Given the description of an element on the screen output the (x, y) to click on. 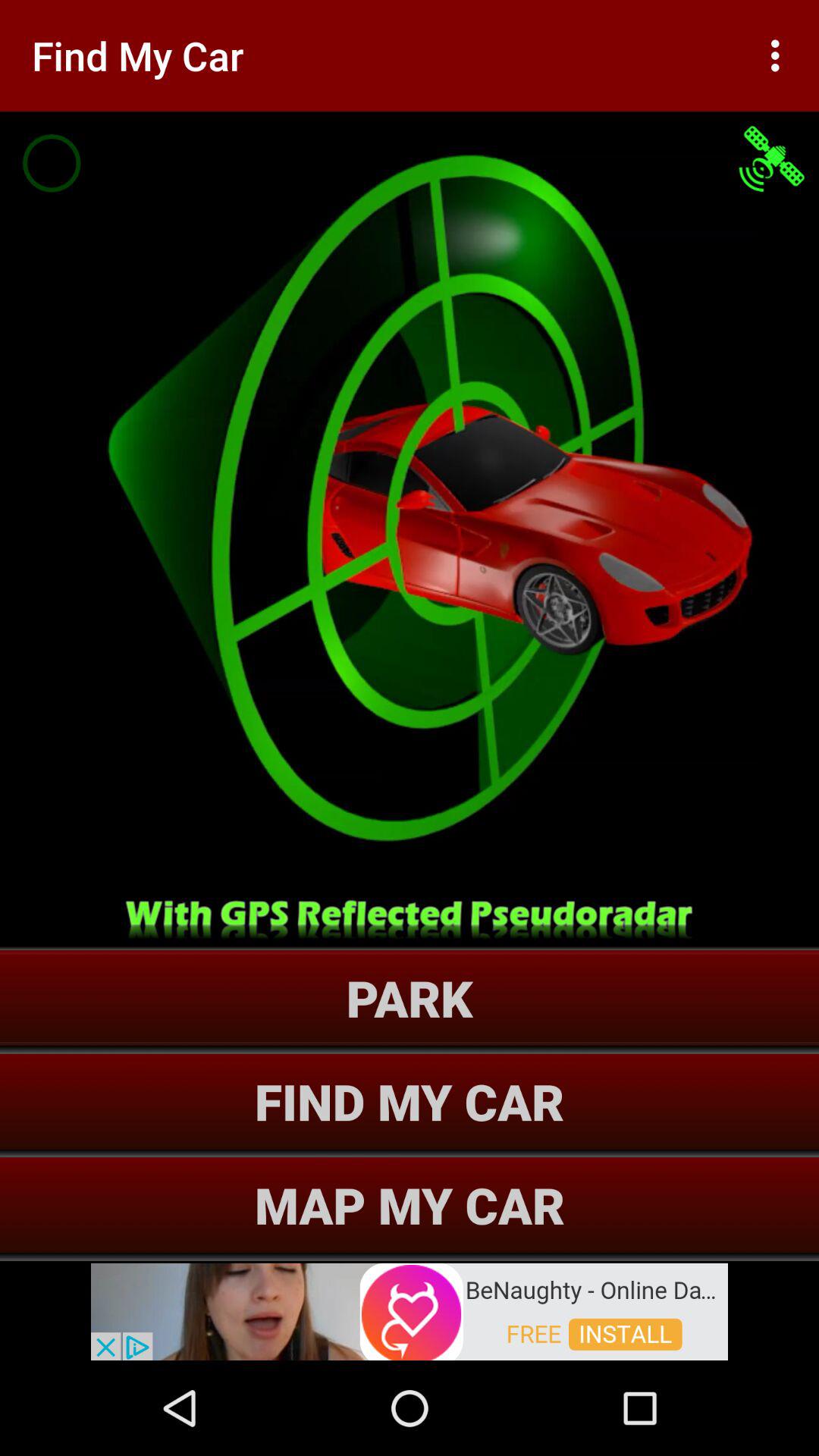
open advertisement (409, 1310)
